Given the description of an element on the screen output the (x, y) to click on. 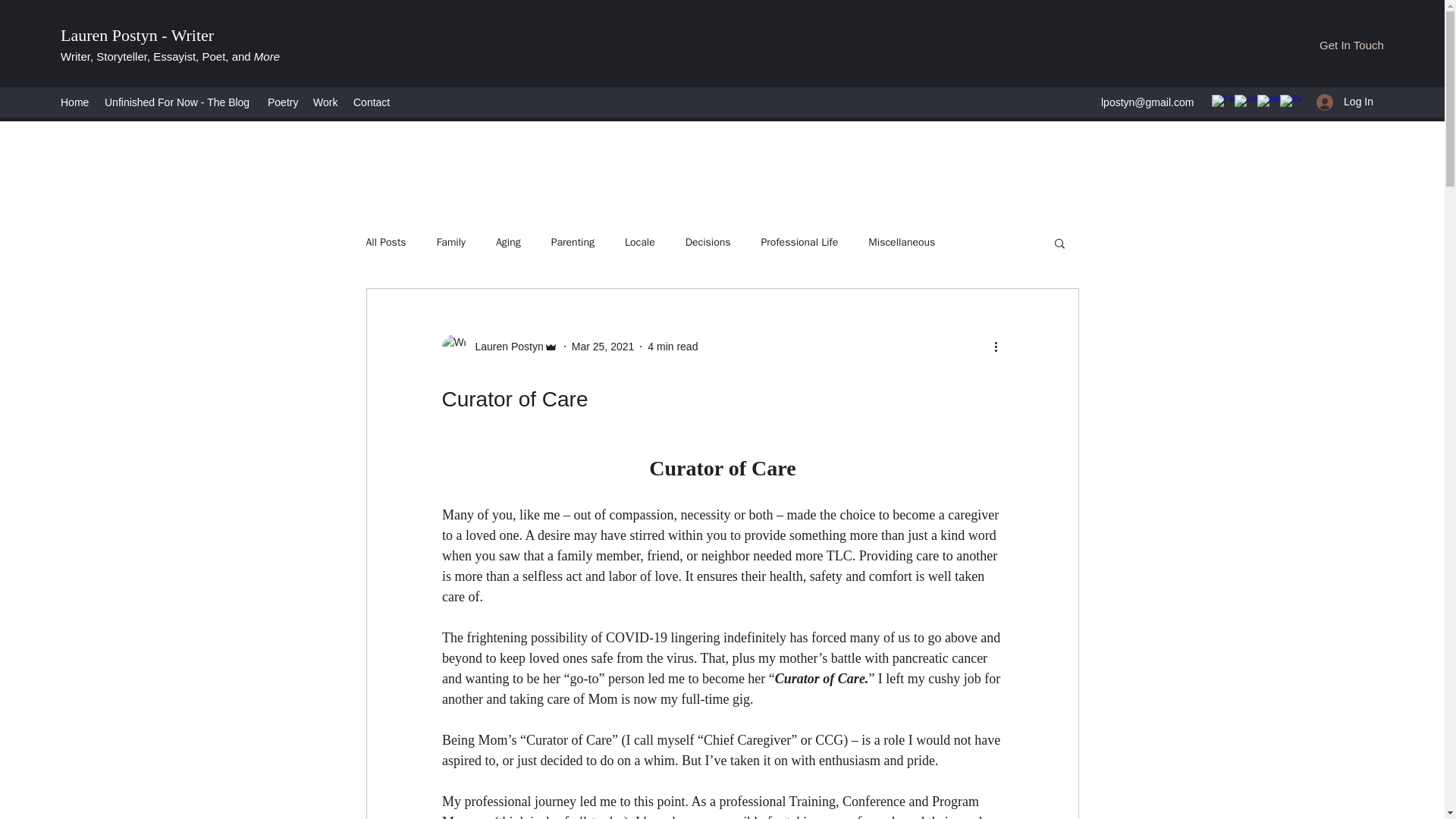
Locale (639, 242)
Aging (508, 242)
Professional Life (799, 242)
Lauren Postyn - Writer (137, 35)
Get In Touch (1351, 45)
Lauren Postyn (499, 346)
All Posts (385, 242)
Parenting (572, 242)
Lauren Postyn (504, 345)
Log In (1345, 101)
